Given the description of an element on the screen output the (x, y) to click on. 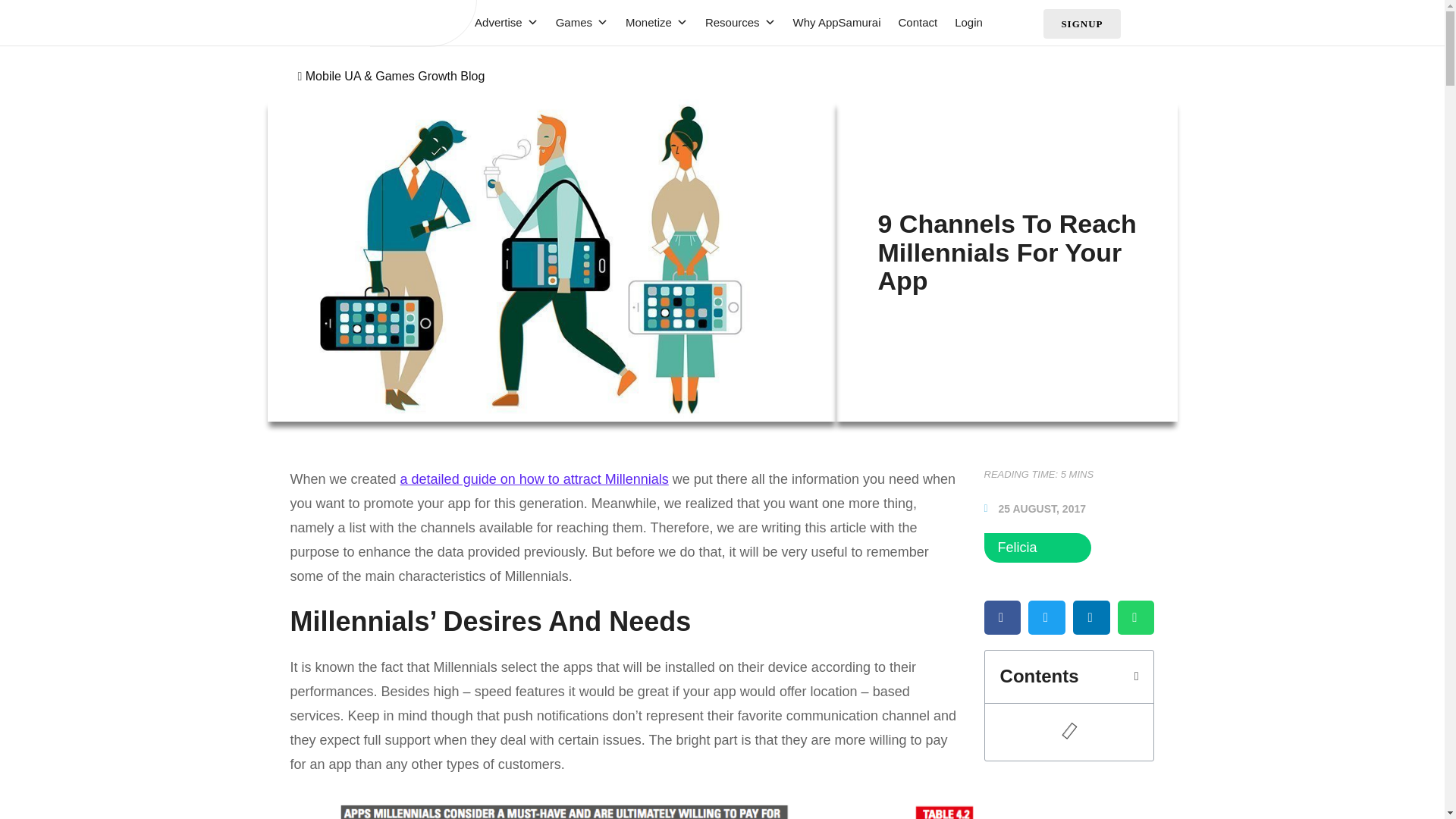
Login (960, 22)
Resources (733, 22)
Advertise (499, 22)
Games (574, 22)
SIGNUP (1081, 23)
Monetize (648, 22)
Why AppSamurai (828, 22)
Contact (909, 22)
